Given the description of an element on the screen output the (x, y) to click on. 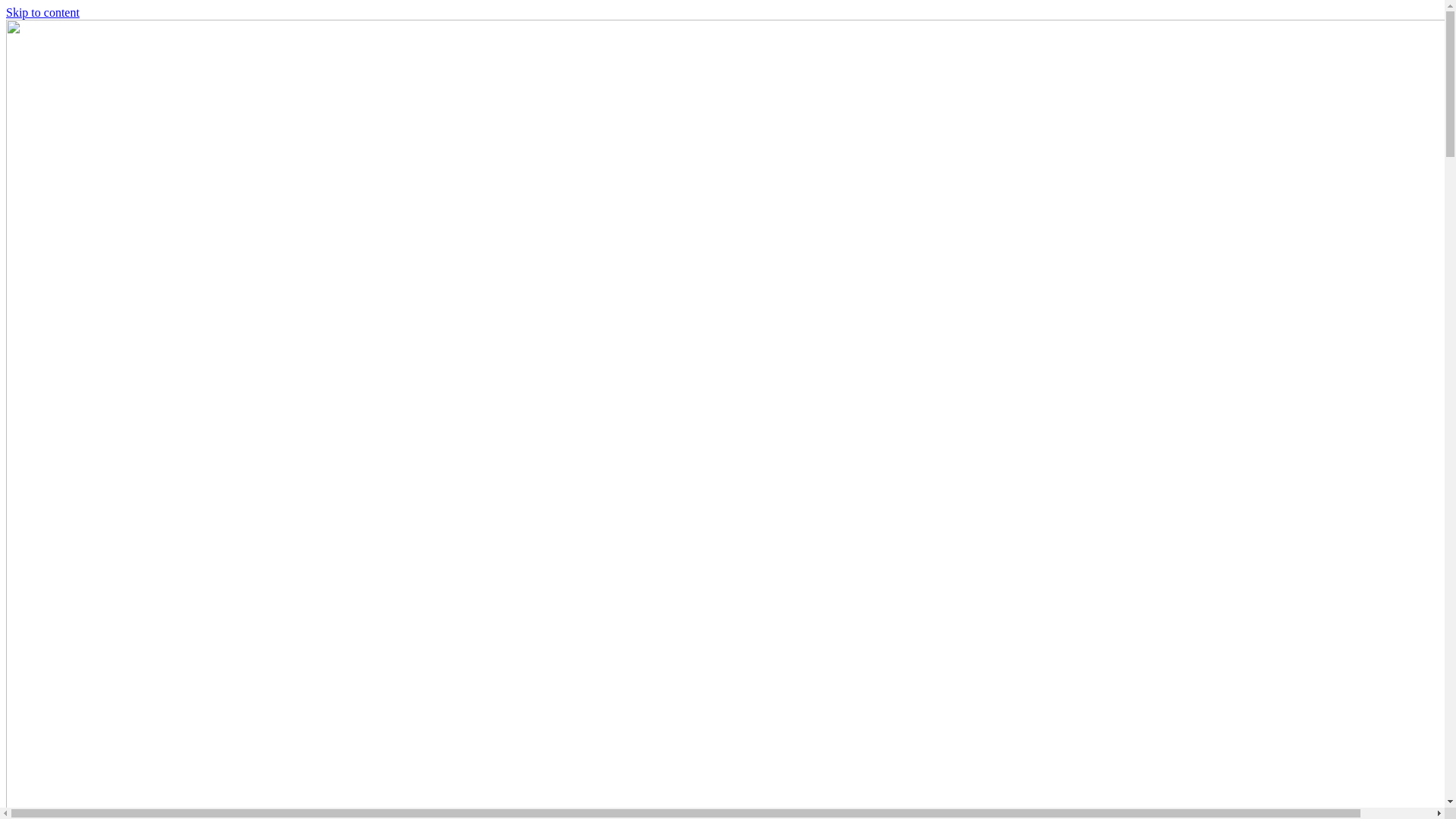
Skip to content Element type: text (42, 12)
